Given the description of an element on the screen output the (x, y) to click on. 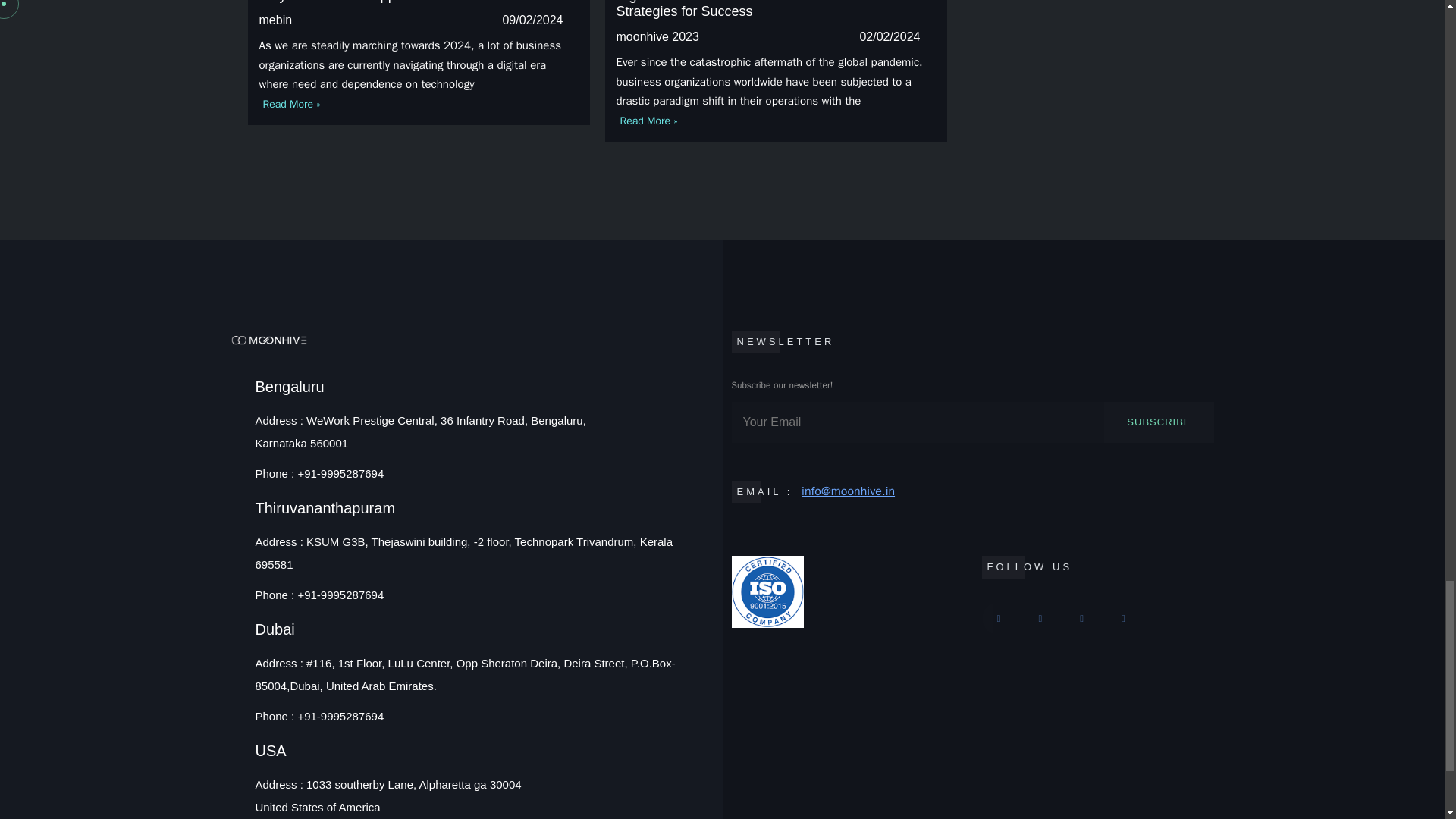
mebin (275, 19)
Moonhive Private Limited is ISO 9001:2015 Certified Company (846, 592)
Why You Need an App for Your Business in 2024 (406, 2)
